Given the description of an element on the screen output the (x, y) to click on. 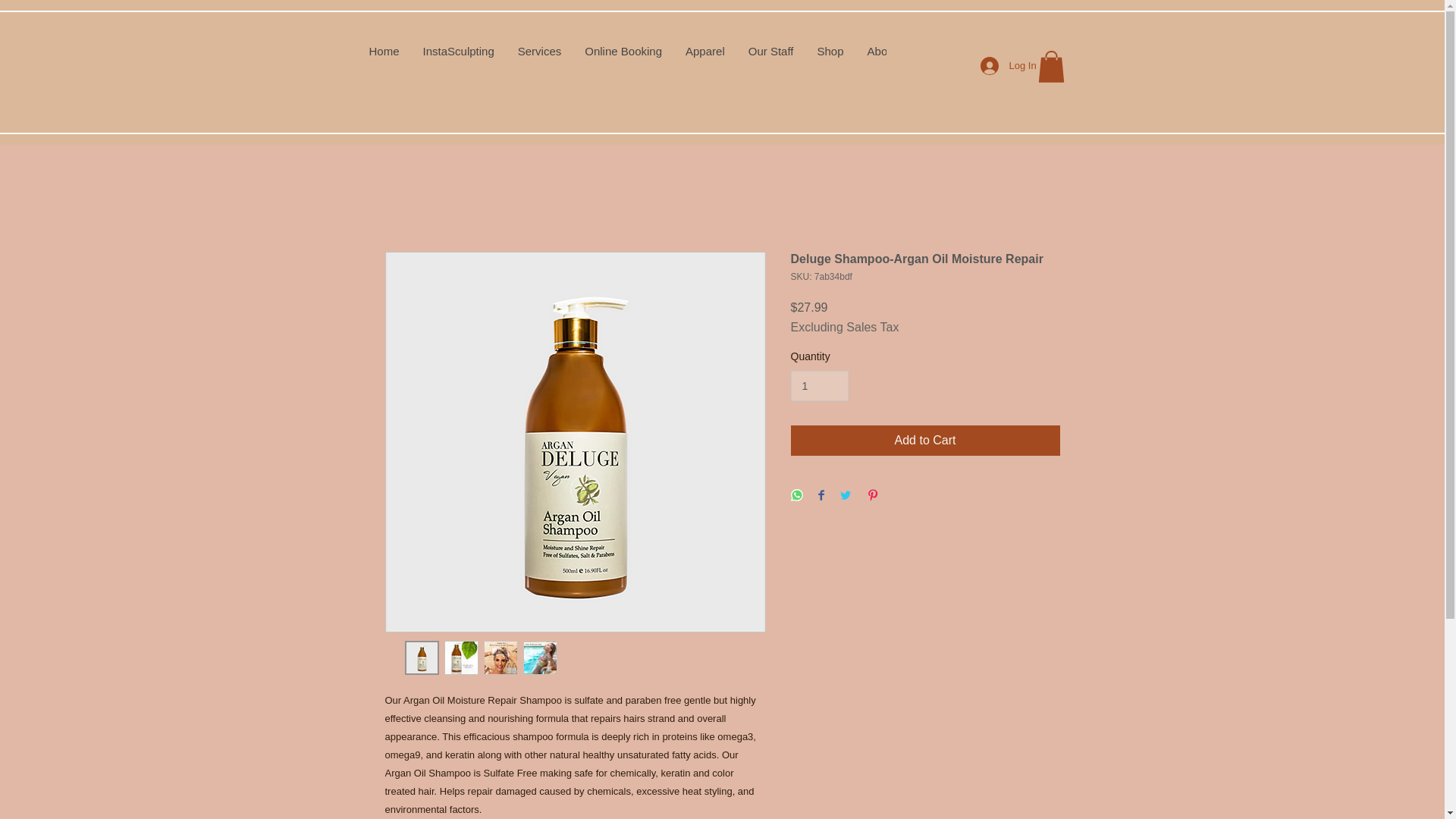
InstaSculpting (457, 58)
Our Staff (770, 58)
Services (539, 58)
Apparel (704, 58)
About Us (891, 58)
Log In (994, 65)
Online Booking (622, 58)
Facebook Like (927, 65)
Shop (829, 58)
Add to Cart (924, 440)
